Given the description of an element on the screen output the (x, y) to click on. 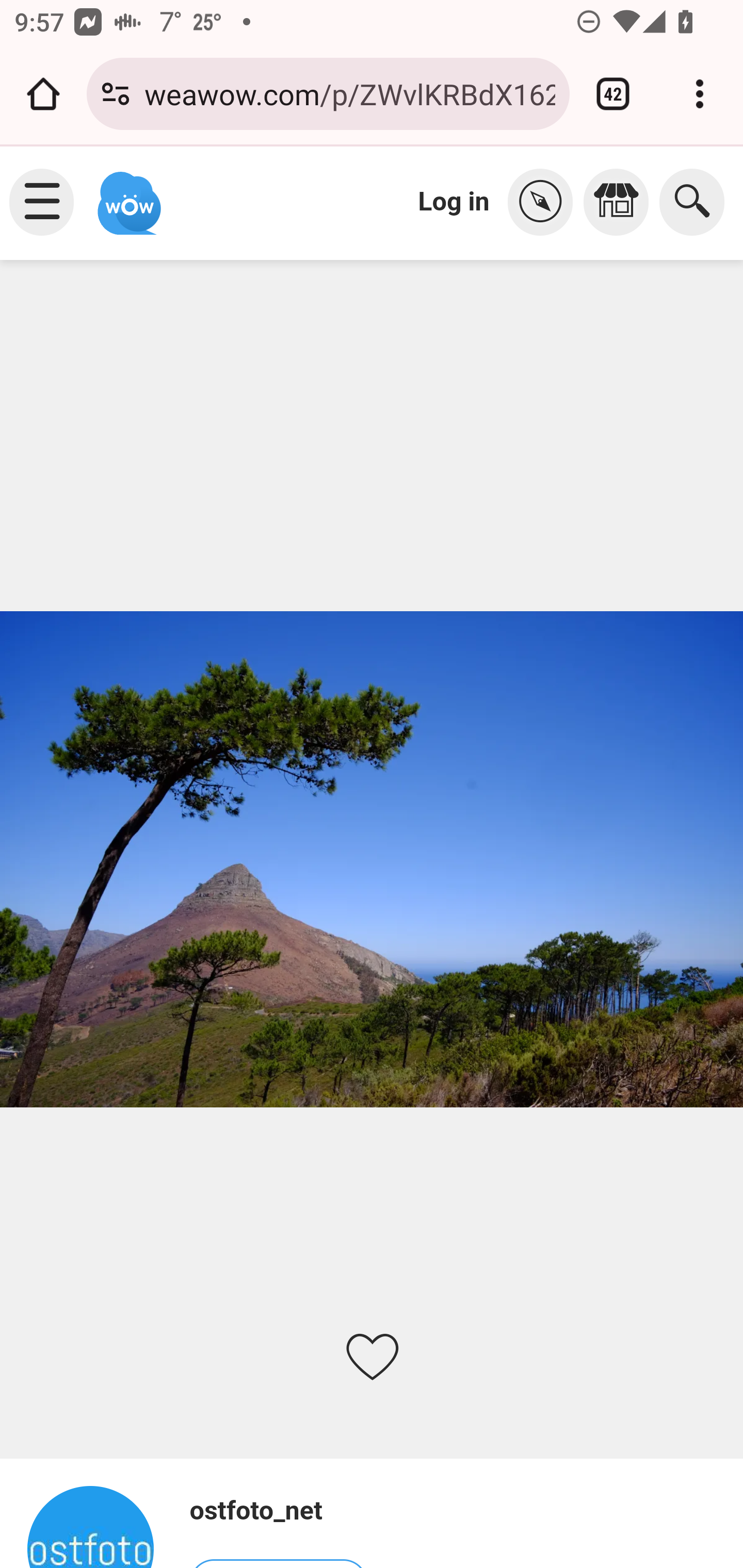
Open the home page (43, 93)
Connection is secure (115, 93)
Switch or close tabs (612, 93)
Customize and control Google Chrome (699, 93)
weawow.com/p/ZWvlKRBdX1628107 (349, 92)
Weawow (127, 194)
 (545, 201)
 (621, 201)
Log in (453, 201)
ostfoto_net (99, 1525)
ostfoto_net (277, 1510)
